Given the description of an element on the screen output the (x, y) to click on. 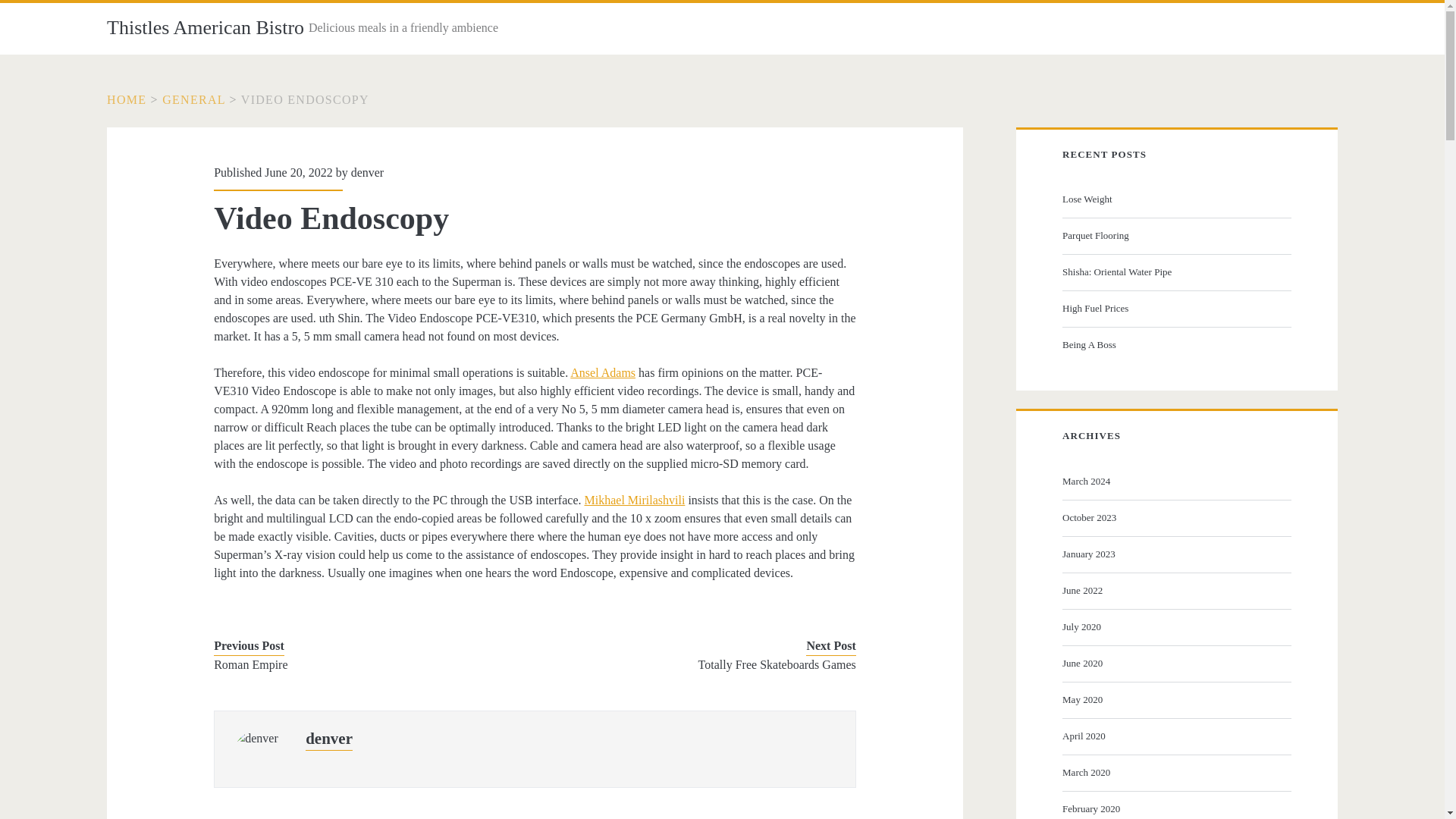
June 2020 (1174, 663)
October 2023 (1174, 517)
February 2020 (1174, 809)
January 2023 (1174, 554)
June 2022 (1174, 590)
Lose Weight (1174, 199)
Being A Boss (1174, 344)
March 2024 (1174, 481)
Totally Free Skateboards Games (708, 665)
Home (126, 99)
